Given the description of an element on the screen output the (x, y) to click on. 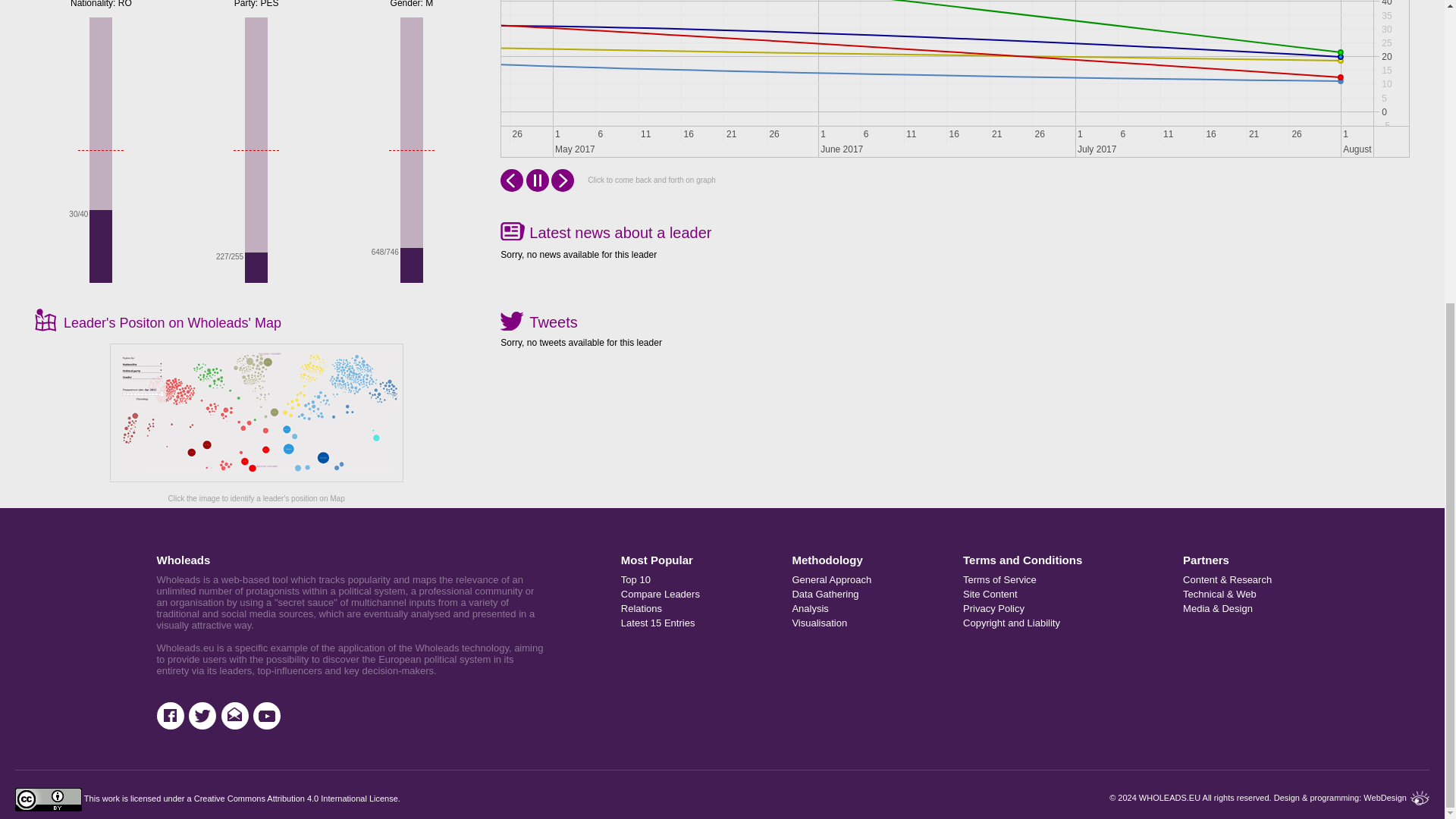
Compare Leaders (695, 595)
General Approach (866, 581)
Relations (695, 609)
Data Gathering (866, 595)
Top 10 (695, 581)
Latest 15 Entries (695, 624)
